Given the description of an element on the screen output the (x, y) to click on. 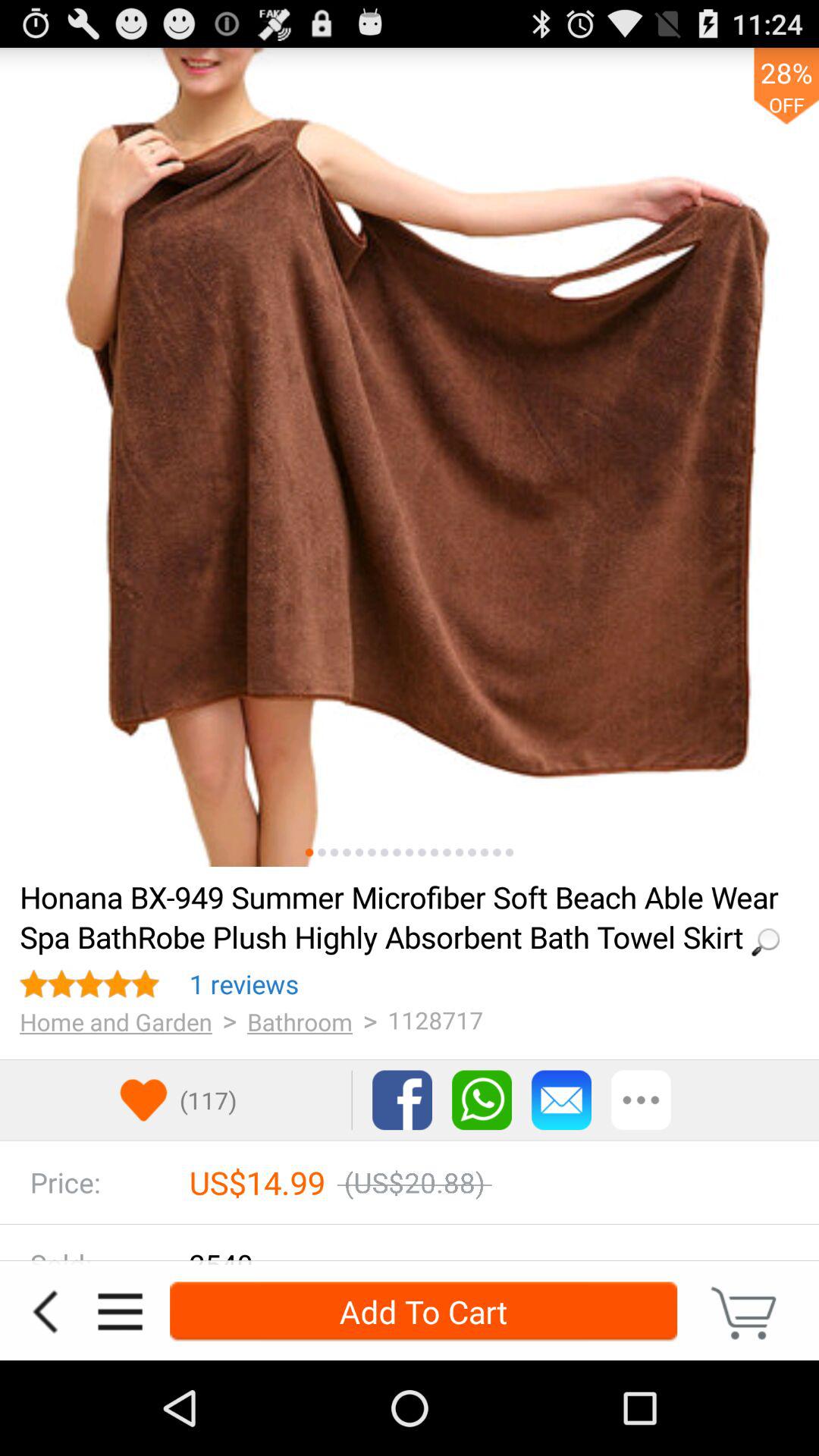
image link (359, 852)
